Given the description of an element on the screen output the (x, y) to click on. 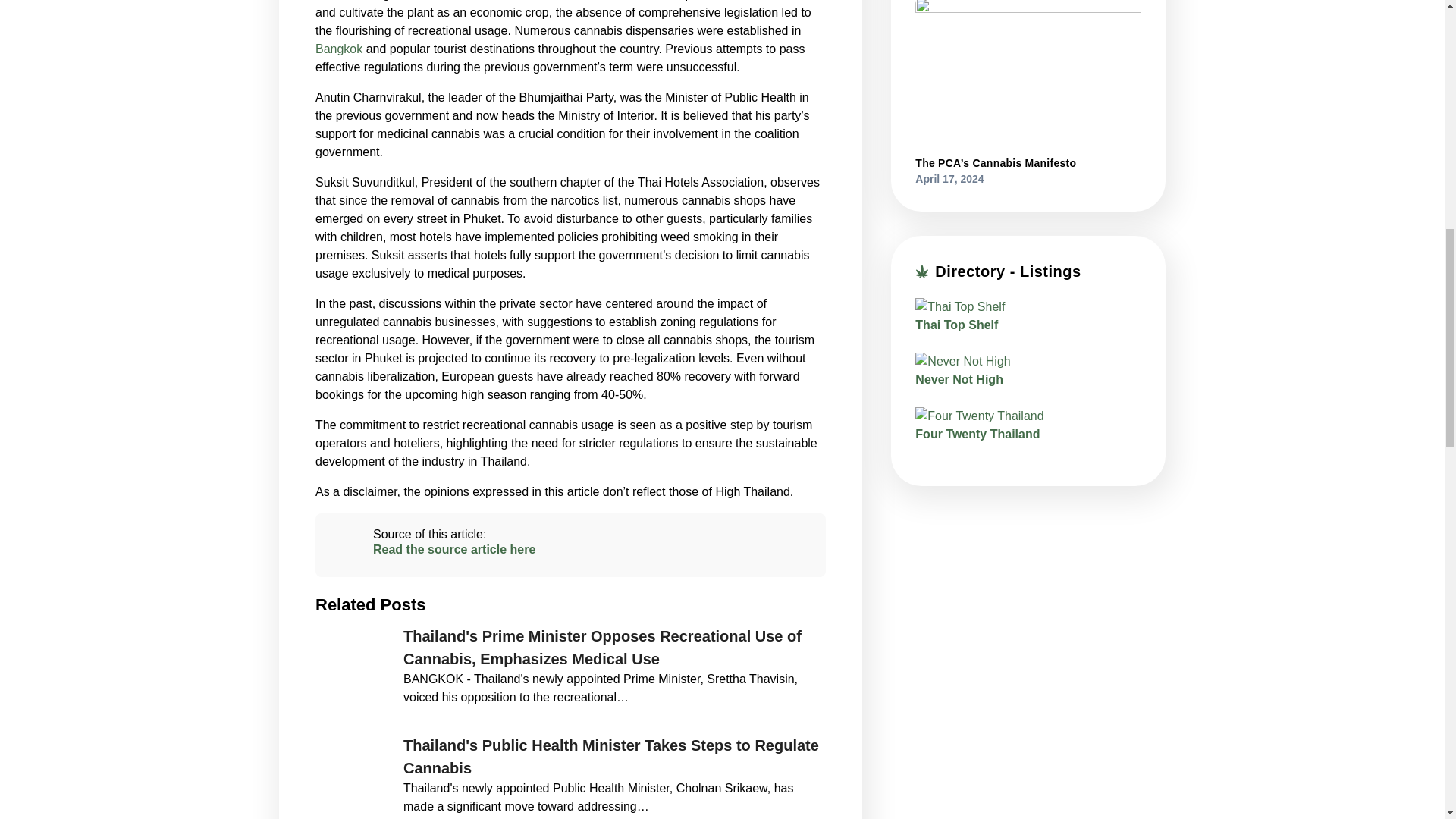
Read the source article here (570, 549)
Four Twenty Thailand (977, 433)
Bangkok (338, 48)
Thai Top Shelf (956, 324)
Never Not High (959, 379)
